Given the description of an element on the screen output the (x, y) to click on. 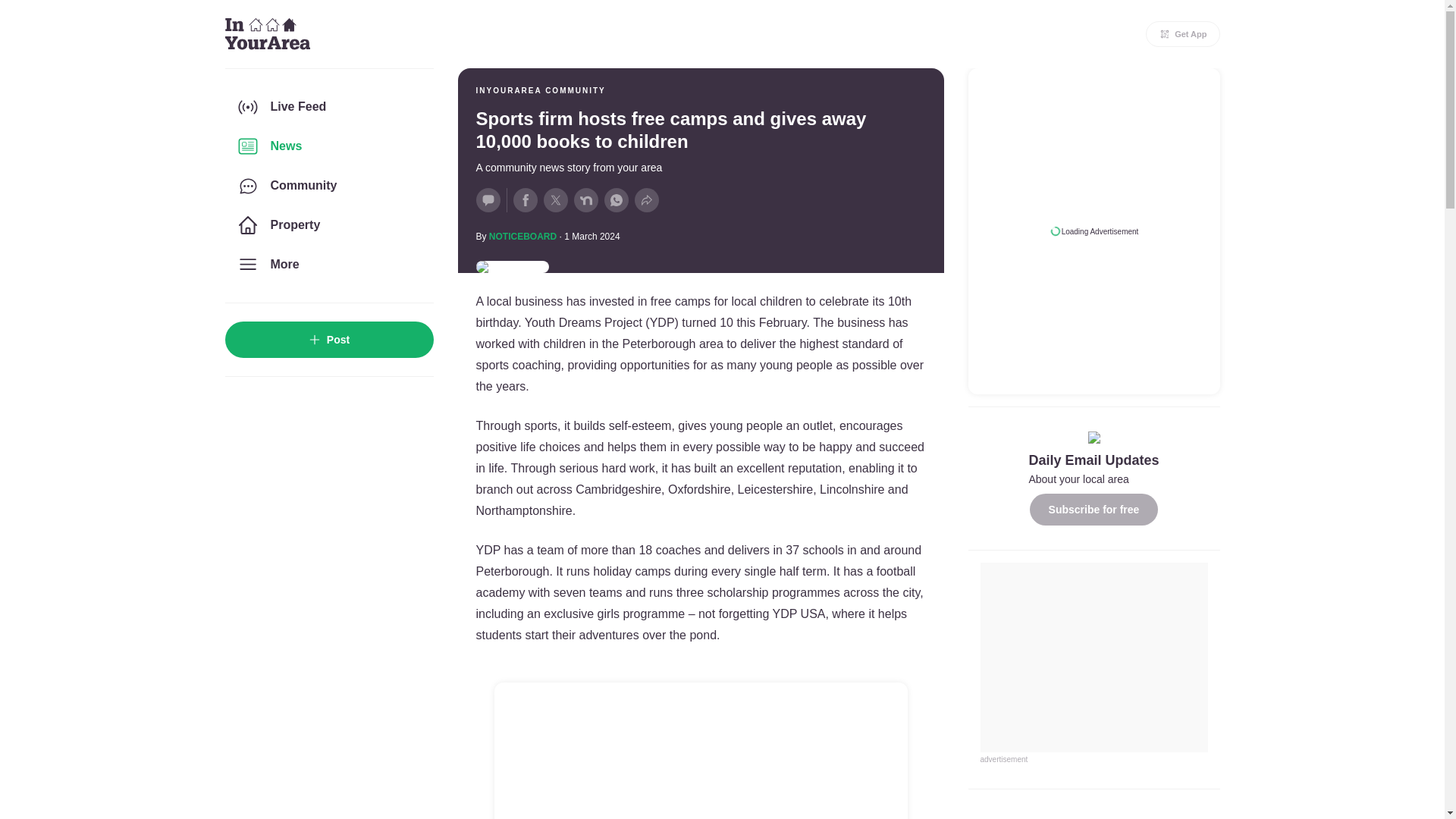
Live Feed (328, 106)
Share to Nextdoor (584, 200)
Share to X (555, 200)
Property (328, 224)
News (328, 146)
Share to Whatsapp (615, 200)
INYOURAREA COMMUNITY (540, 90)
Social Button (488, 200)
Share to ... (645, 200)
Post (328, 339)
